Given the description of an element on the screen output the (x, y) to click on. 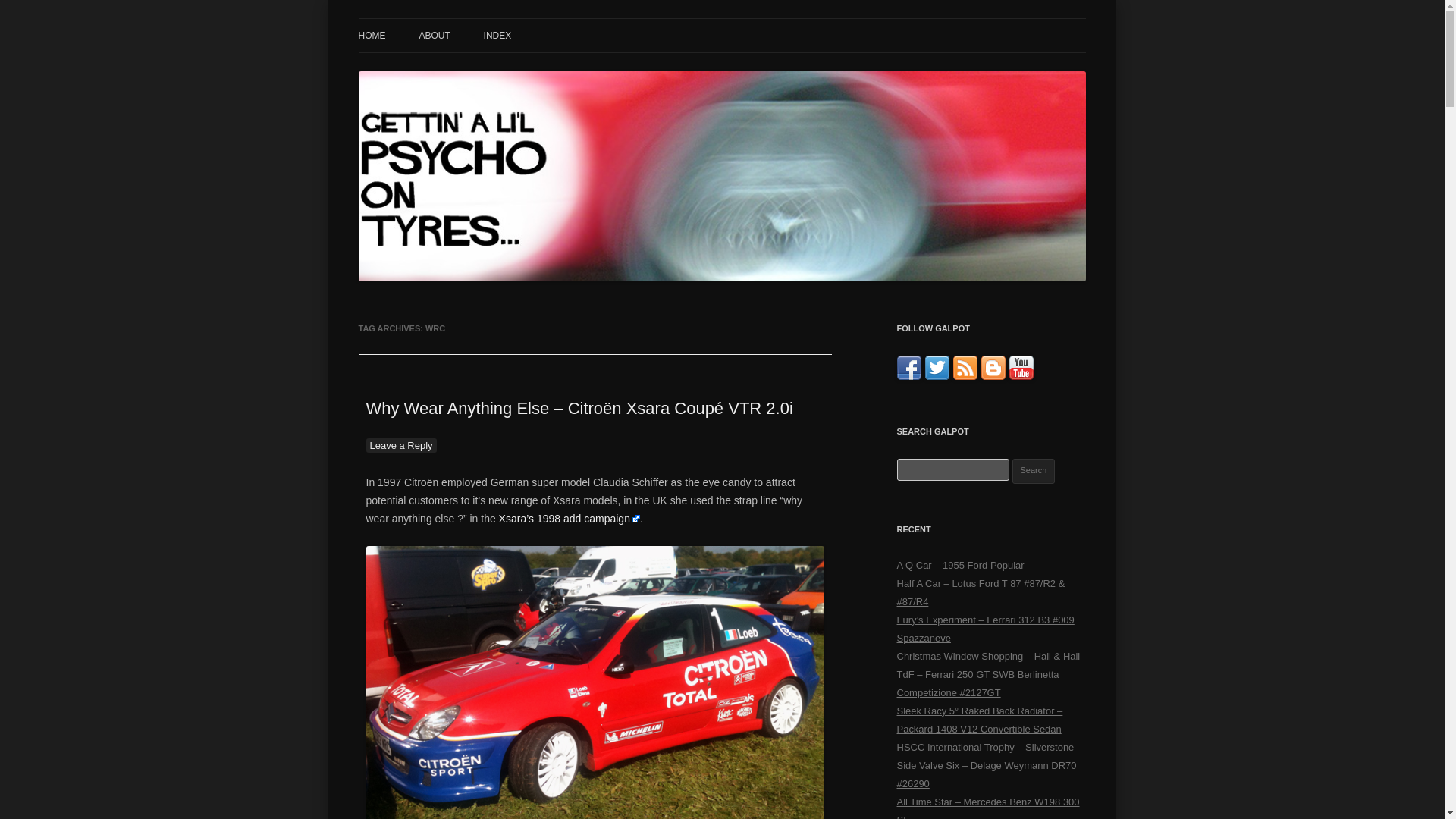
Connect on Facebook (908, 376)
Gettin' A Li'l Psycho On Tyres (497, 36)
Leave a Reply (400, 445)
Subscribe to RSS Feed (964, 376)
Gettin' A Li'l Psycho On Tyres (497, 36)
ABOUT (434, 35)
psychoontyres - YouTube (1020, 376)
Search (1033, 471)
Blogger Blog (993, 376)
